Given the description of an element on the screen output the (x, y) to click on. 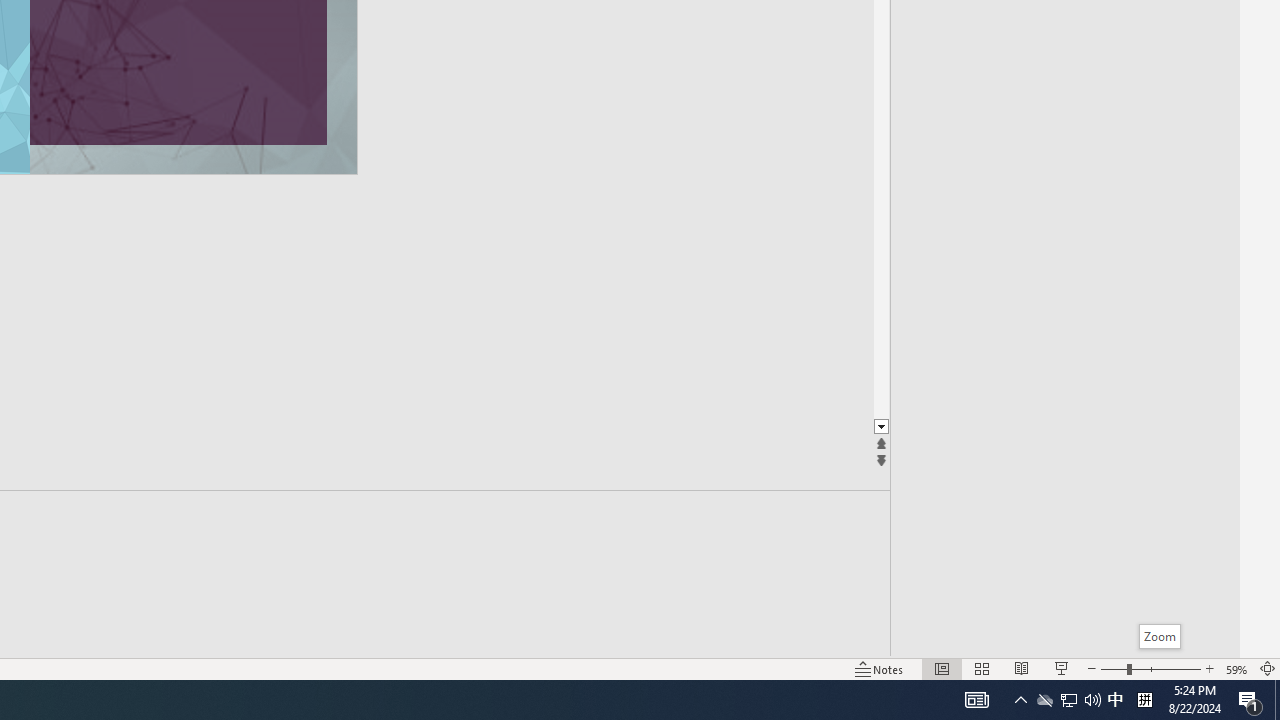
Zoom 59% (1236, 668)
